Given the description of an element on the screen output the (x, y) to click on. 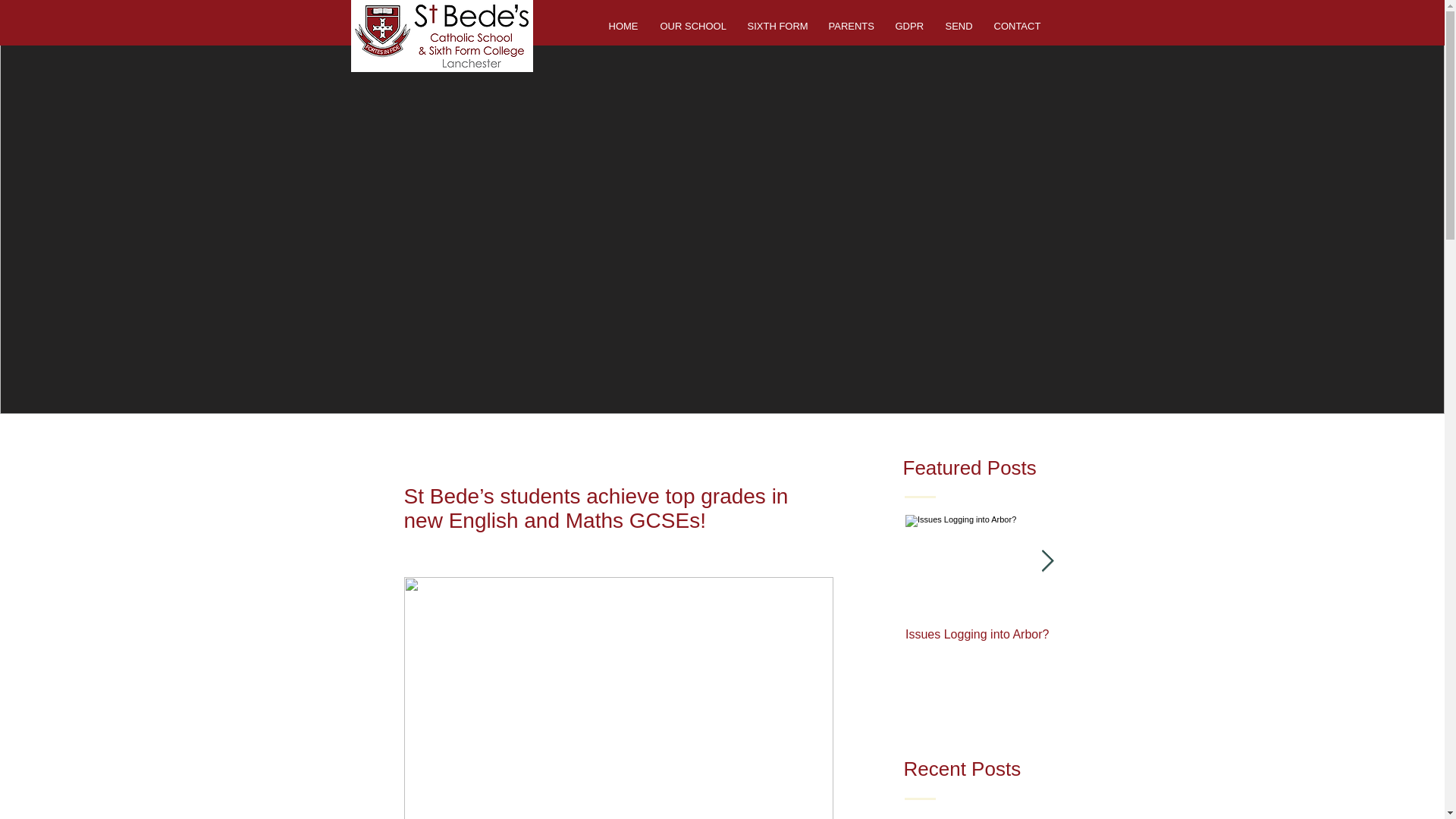
HOME (622, 26)
School Logo (441, 36)
OUR SCHOOL (692, 26)
SIXTH FORM (775, 26)
